Given the description of an element on the screen output the (x, y) to click on. 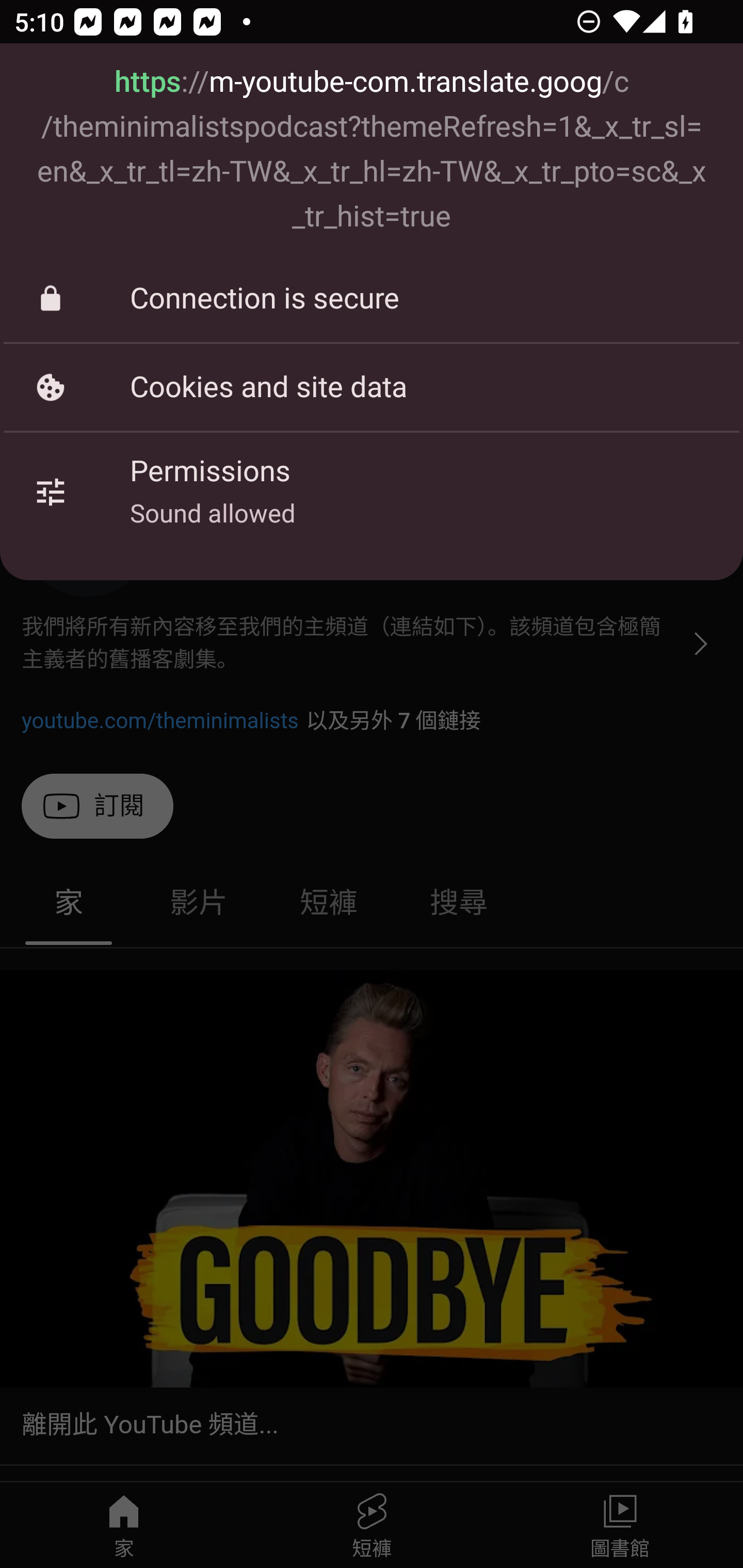
Connection is secure (371, 298)
Cookies and site data (371, 387)
Permissions Sound allowed (371, 491)
